Given the description of an element on the screen output the (x, y) to click on. 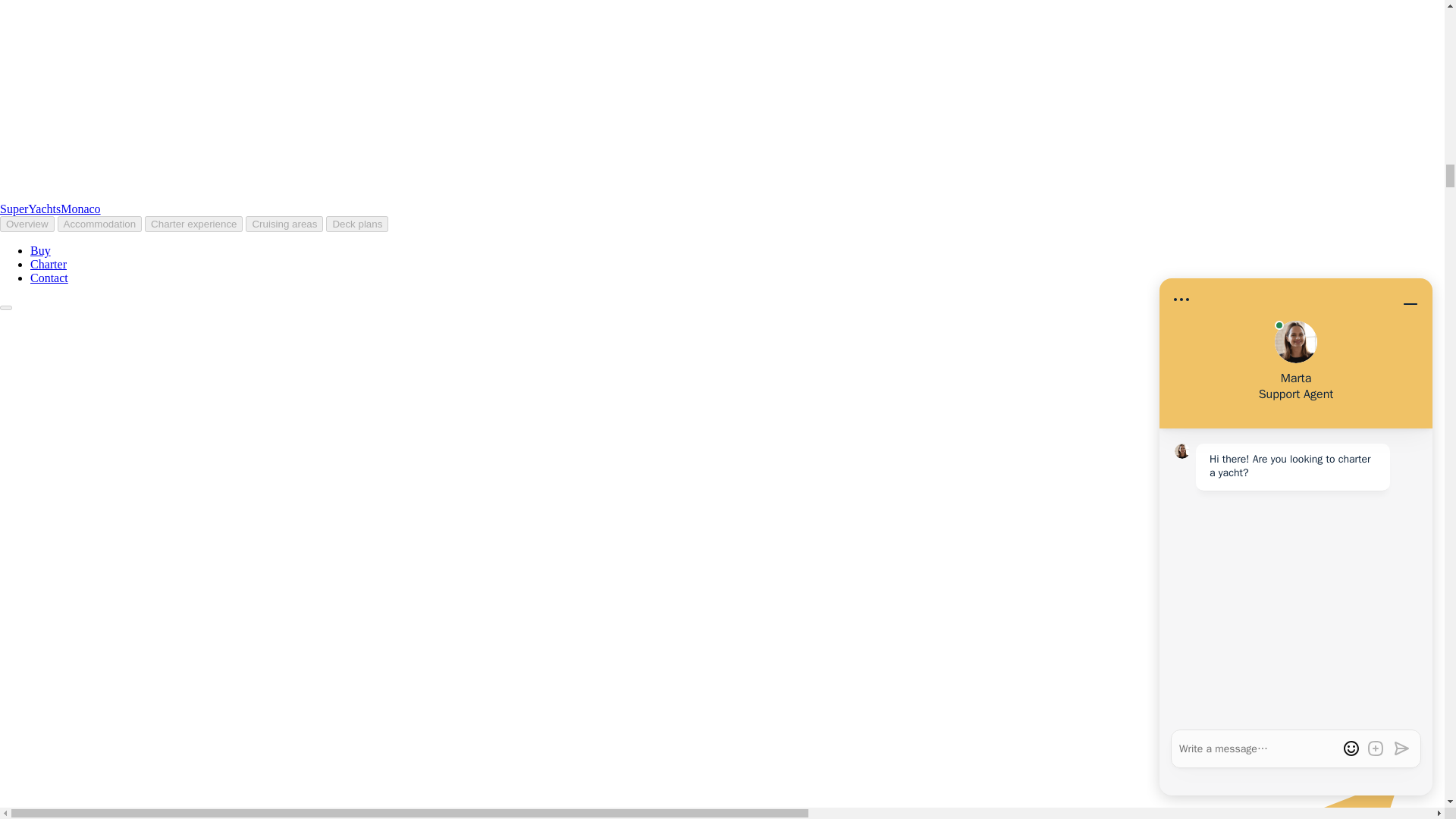
Charter experience (193, 223)
Charter (48, 264)
Cruising areas (284, 223)
Buy (40, 250)
Contact (49, 277)
Deck plans (357, 223)
Accommodation (100, 223)
SuperYachtsMonaco (50, 208)
Overview (27, 223)
